Given the description of an element on the screen output the (x, y) to click on. 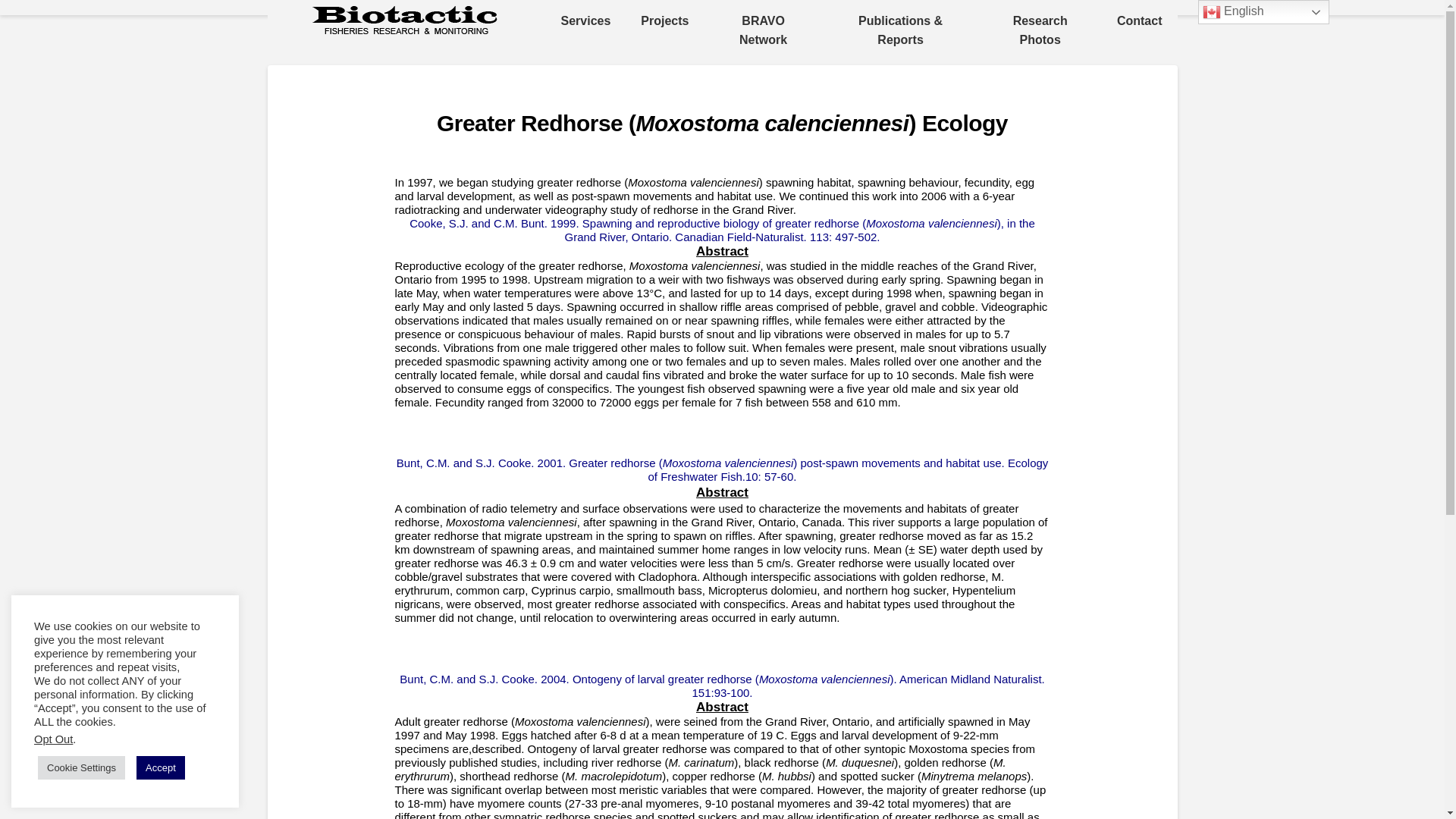
BRAVO Network (762, 30)
Projects (664, 20)
